Given the description of an element on the screen output the (x, y) to click on. 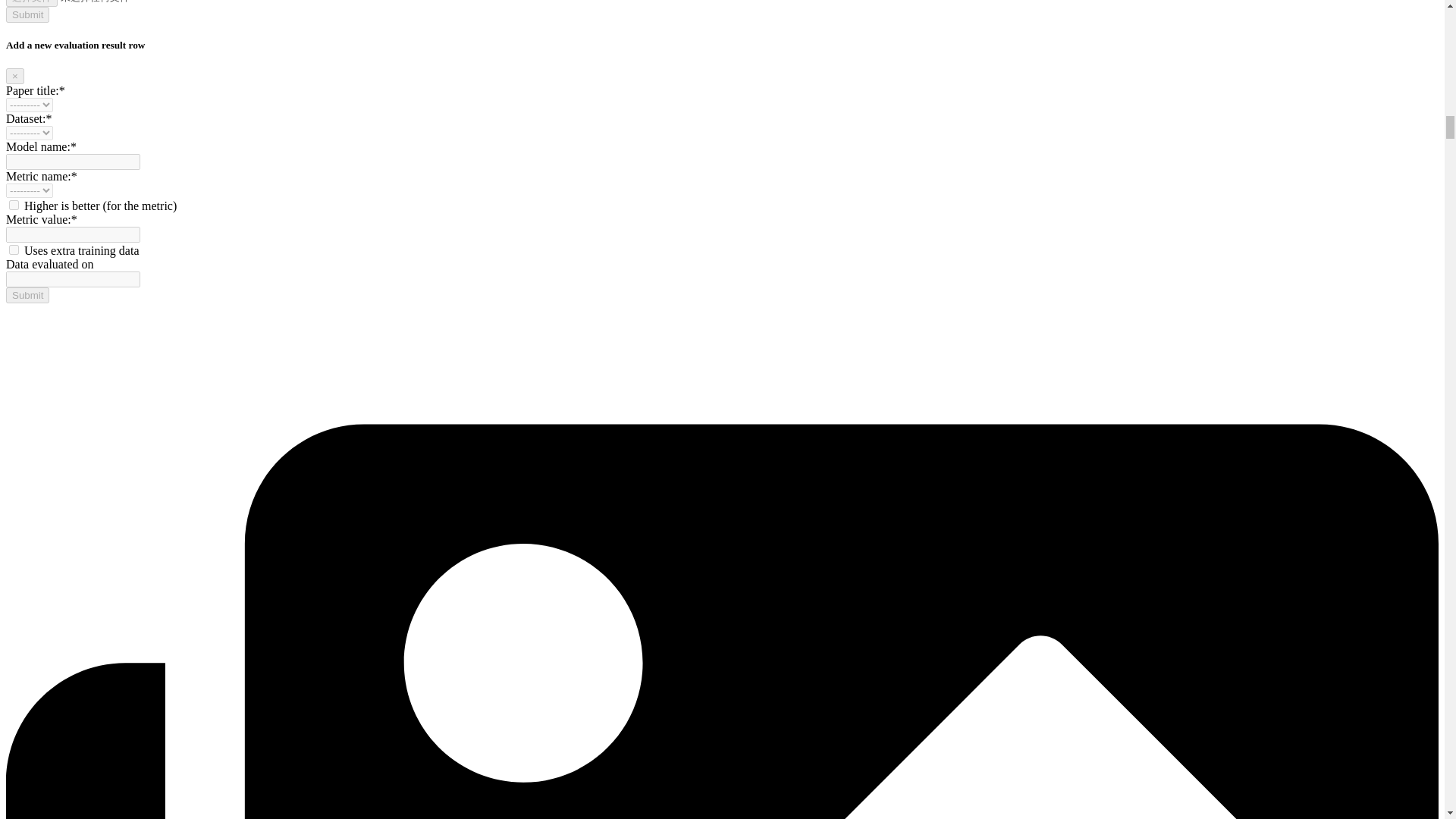
on (13, 249)
Submit (27, 14)
on (13, 204)
Submit (27, 295)
